Given the description of an element on the screen output the (x, y) to click on. 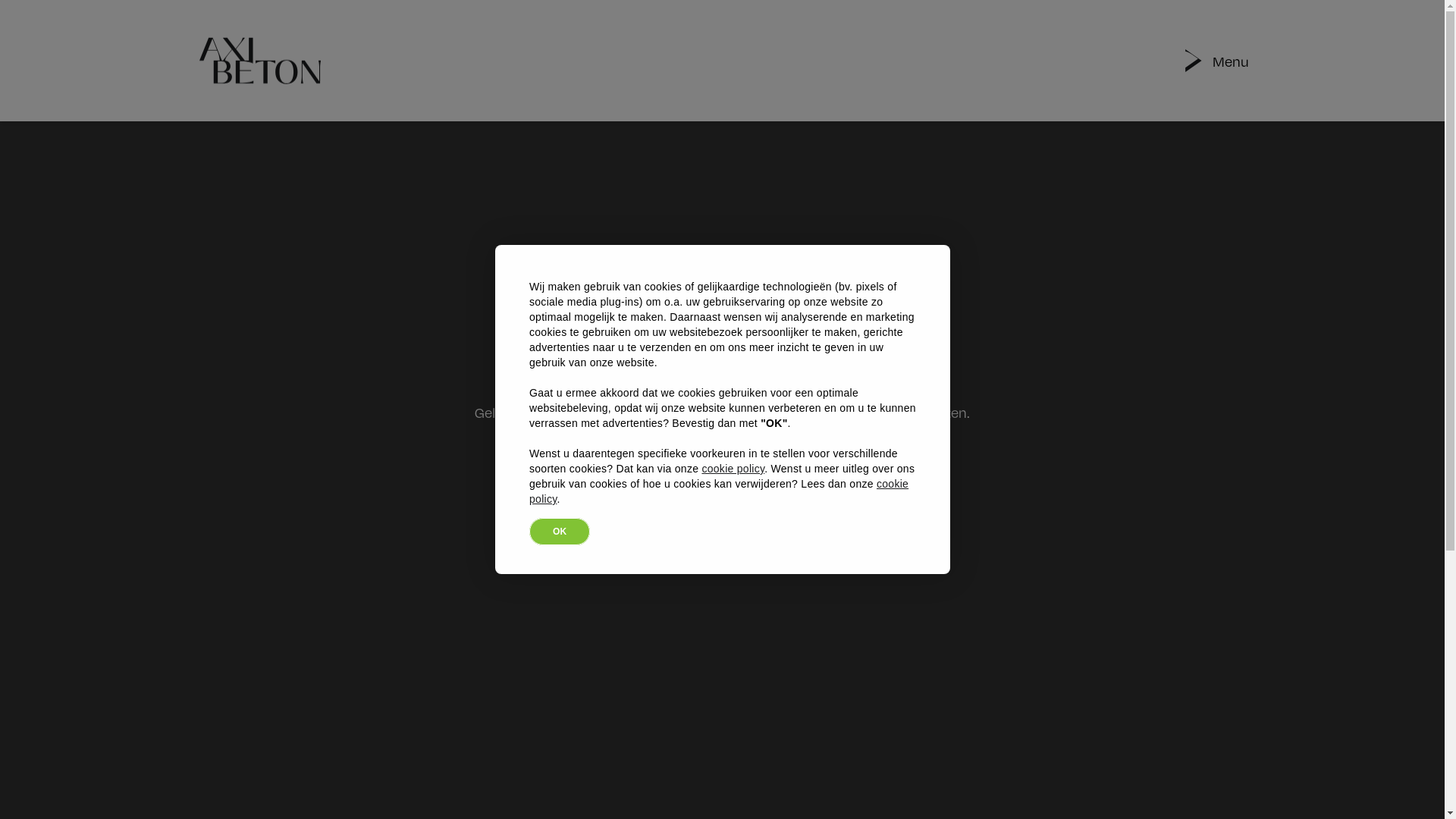
cookie policy Element type: text (732, 468)
Menu Element type: text (1229, 60)
cookie policy Element type: text (718, 491)
terug naar home Element type: text (722, 501)
